Given the description of an element on the screen output the (x, y) to click on. 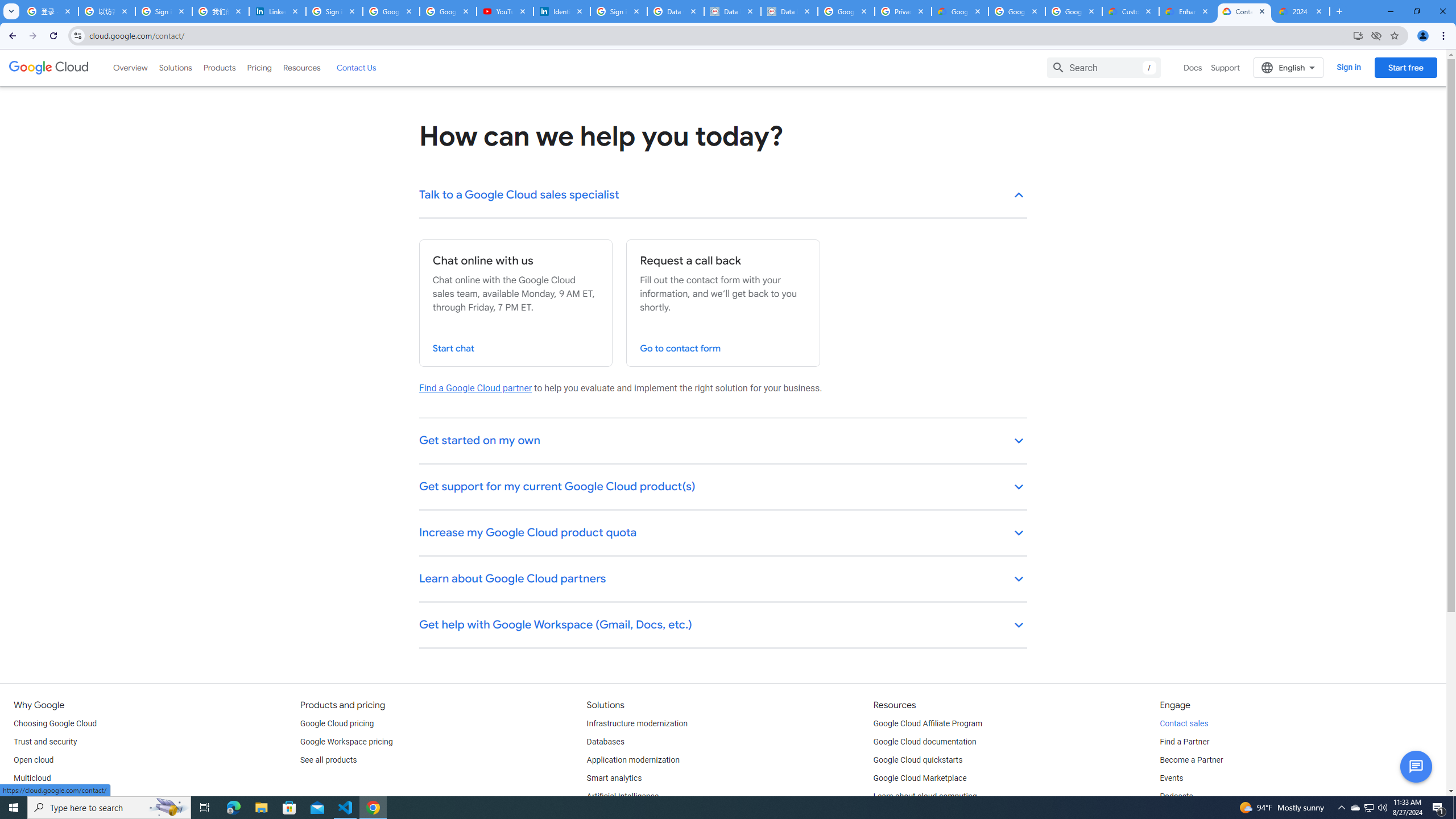
Infrastructure modernization (637, 723)
Sign in - Google Accounts (334, 11)
Smart analytics (614, 778)
Products (218, 67)
Google Cloud (48, 67)
Global infrastructure (49, 796)
Data Privacy Framework (731, 11)
Sign in - Google Accounts (163, 11)
Events (1170, 778)
Google Cloud pricing (336, 723)
